Given the description of an element on the screen output the (x, y) to click on. 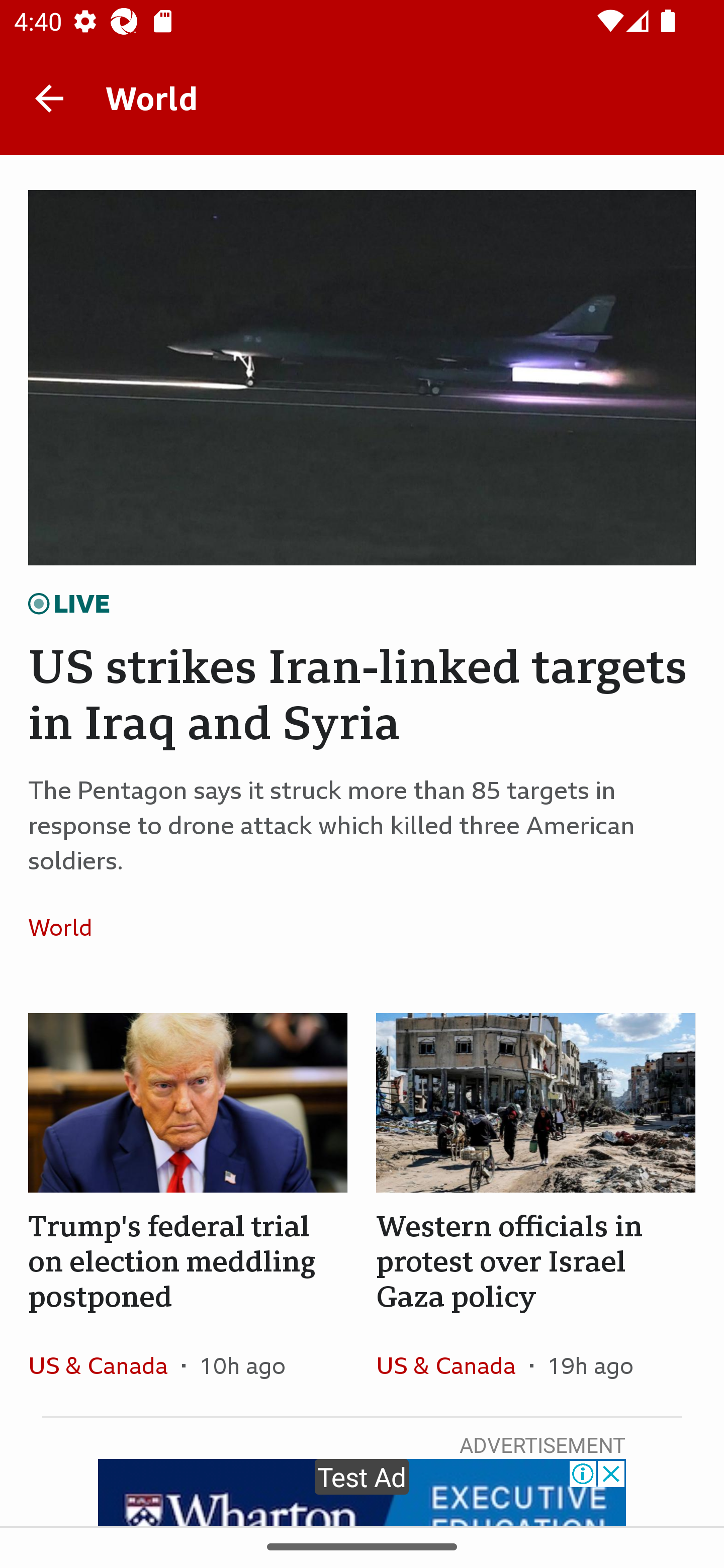
Back (49, 97)
World In the section World (67, 927)
US & Canada In the section US & Canada (104, 1364)
US & Canada In the section US & Canada (452, 1364)
Advertisement (361, 1491)
Advertisement (361, 1491)
